Given the description of an element on the screen output the (x, y) to click on. 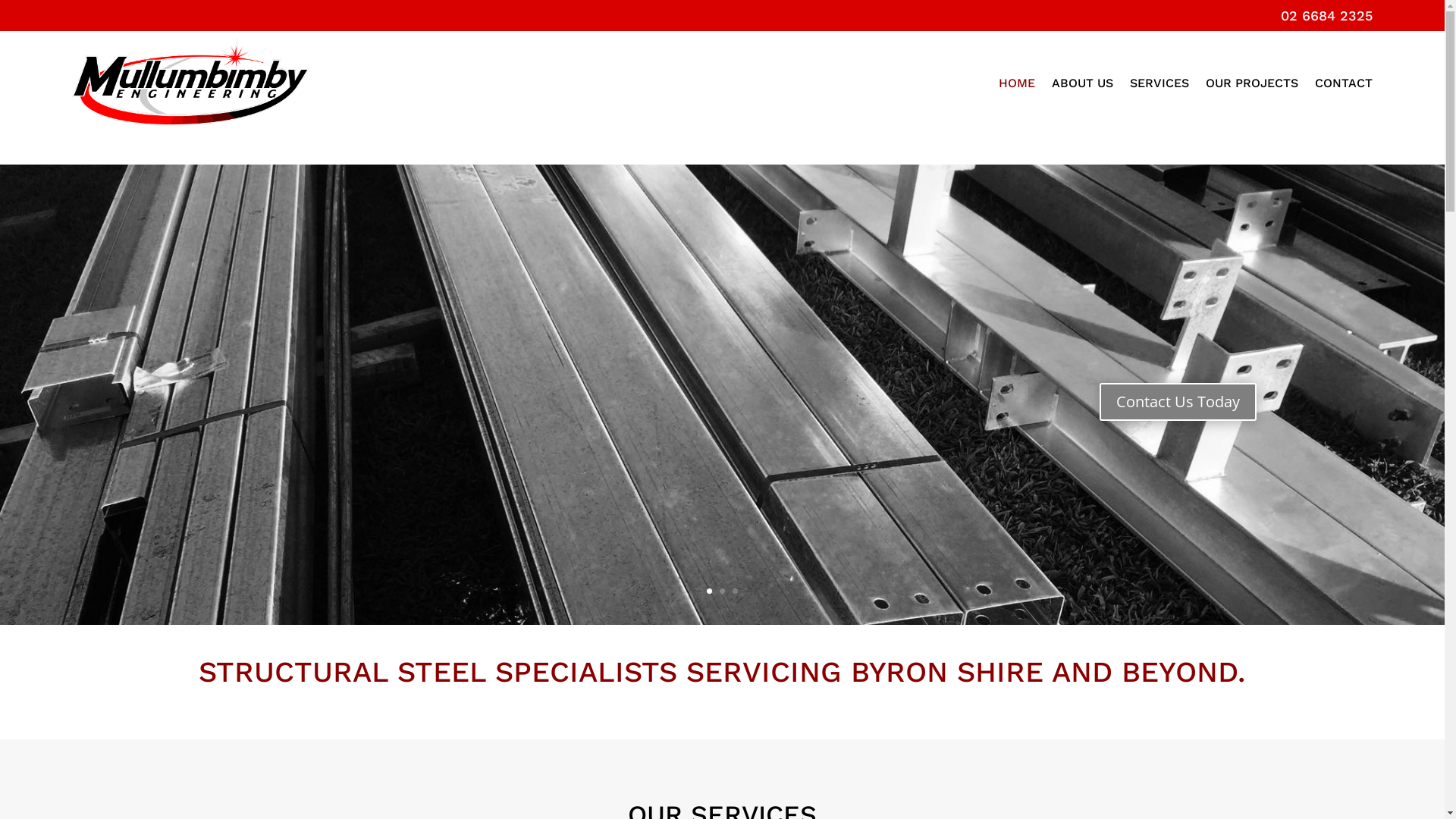
1 Element type: text (709, 590)
HOME Element type: text (1016, 83)
SERVICES Element type: text (1159, 83)
OUR PROJECTS Element type: text (1251, 83)
02 6684 2325 Element type: text (1326, 15)
3 Element type: text (734, 590)
Contact Us Today Element type: text (1177, 401)
ABOUT US Element type: text (1082, 83)
2 Element type: text (721, 590)
CONTACT Element type: text (1343, 83)
